Given the description of an element on the screen output the (x, y) to click on. 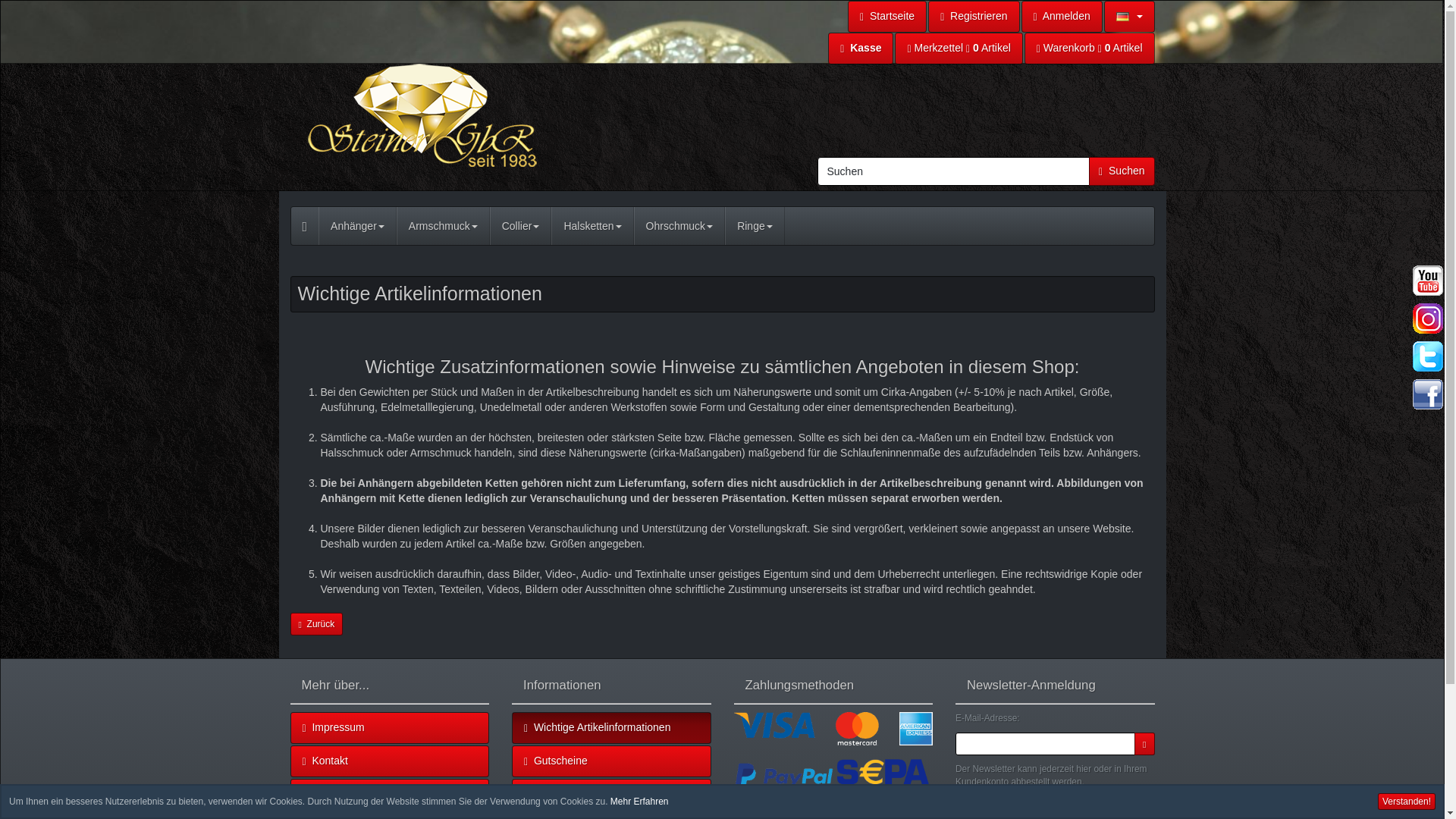
Suchen (953, 171)
Information (639, 801)
  Suchen (1121, 171)
  Anmelden (1062, 16)
Verstanden! (1406, 801)
  Kasse (860, 48)
 Merkzettel  0 Artikel (958, 48)
  Registrieren (973, 16)
Mehr Erfahren (639, 801)
 Warenkorb  0 Artikel (1089, 48)
Suchen (1121, 171)
  Startseite (886, 16)
